Given the description of an element on the screen output the (x, y) to click on. 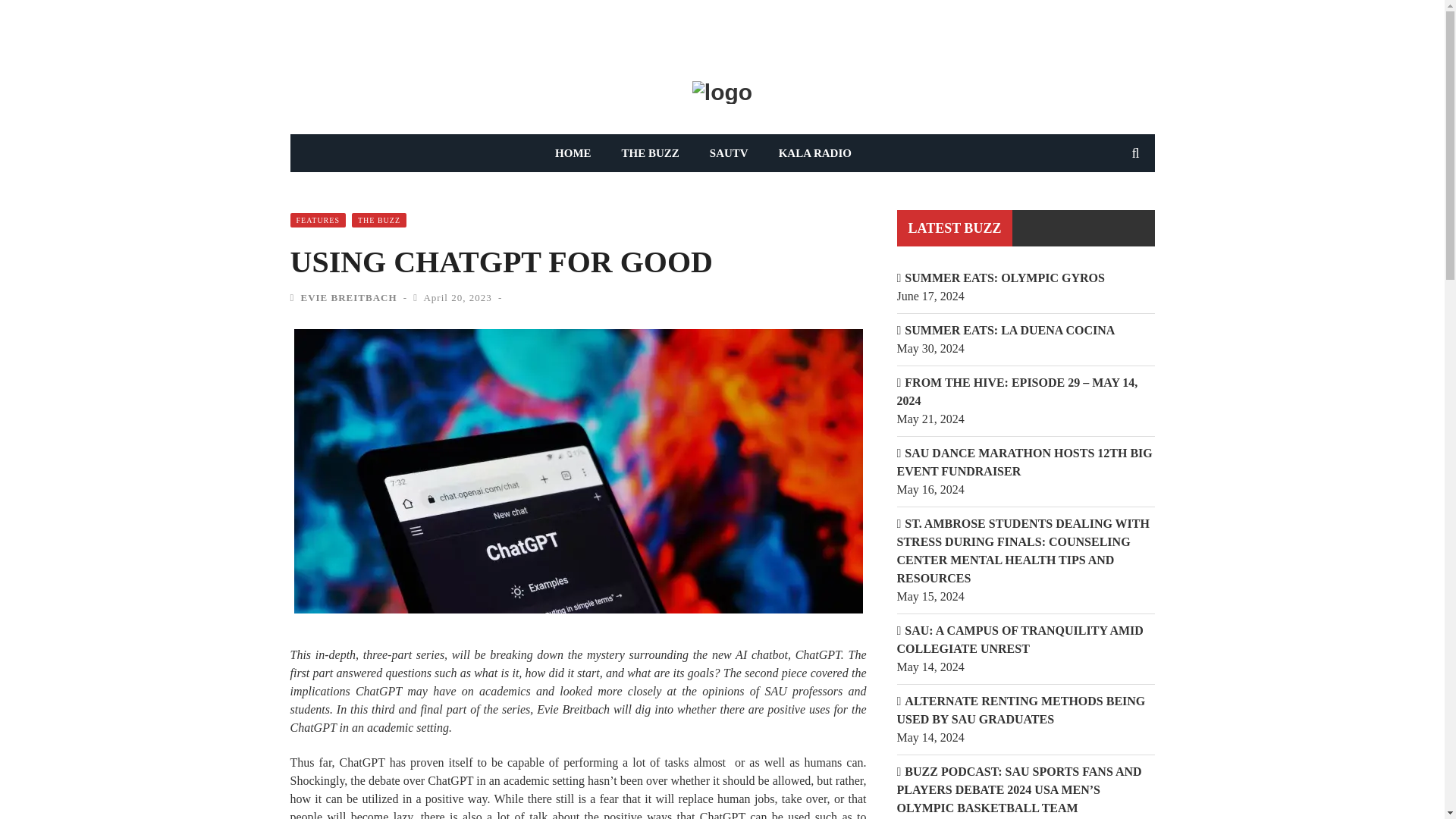
KALA RADIO (814, 152)
Posts by Evie Breitbach (347, 297)
WELCOME TO THE HIVE (358, 36)
SAUTV (728, 152)
ABOUT THE HIVE (481, 36)
THE BUZZ (650, 152)
HOME (573, 152)
CONTACT US (579, 36)
